Given the description of an element on the screen output the (x, y) to click on. 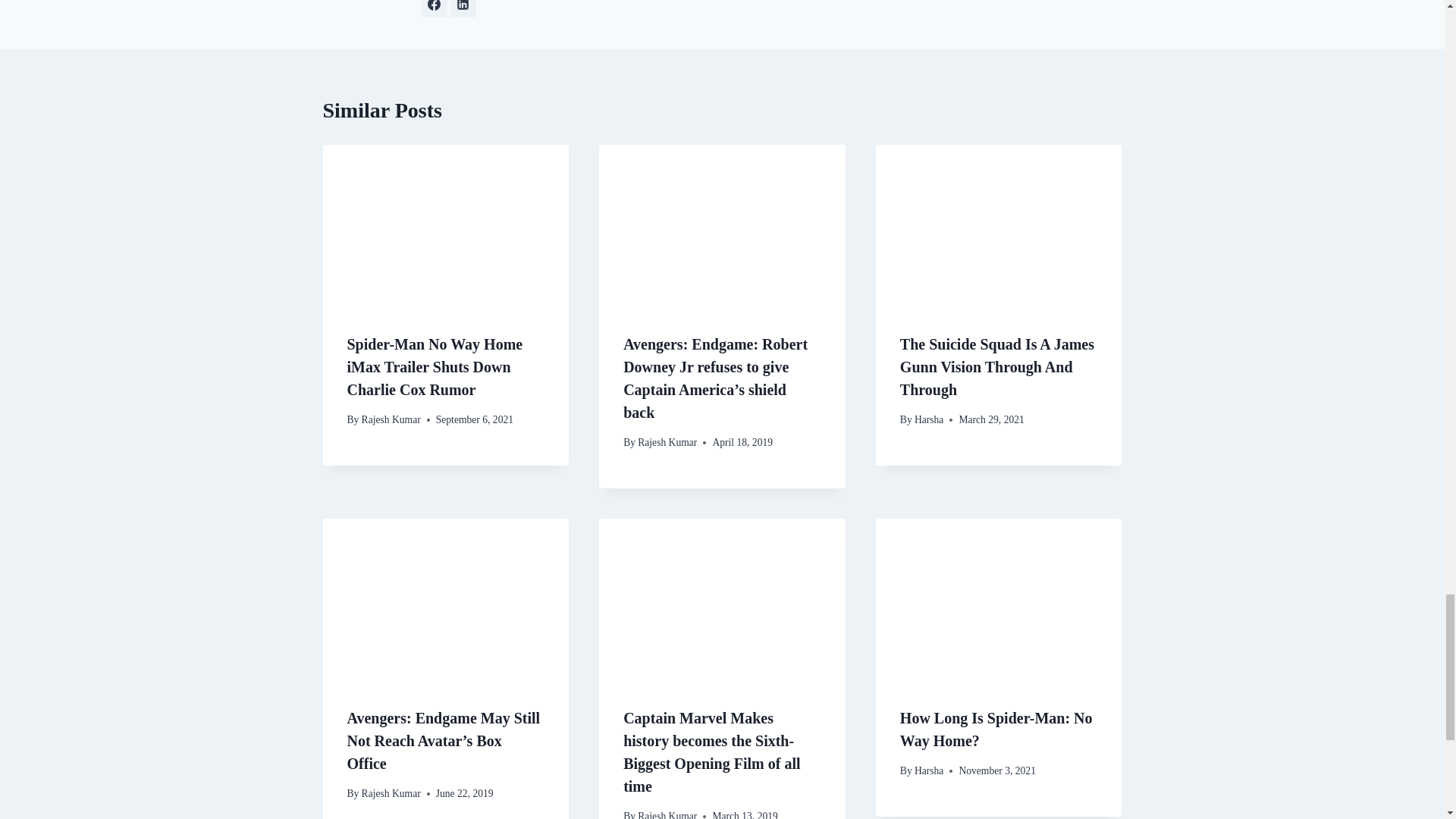
Follow Beautlin on Facebook (434, 8)
Follow Beautlin on Linkedin (462, 8)
Rajesh Kumar (390, 419)
Rajesh Kumar (667, 441)
